Given the description of an element on the screen output the (x, y) to click on. 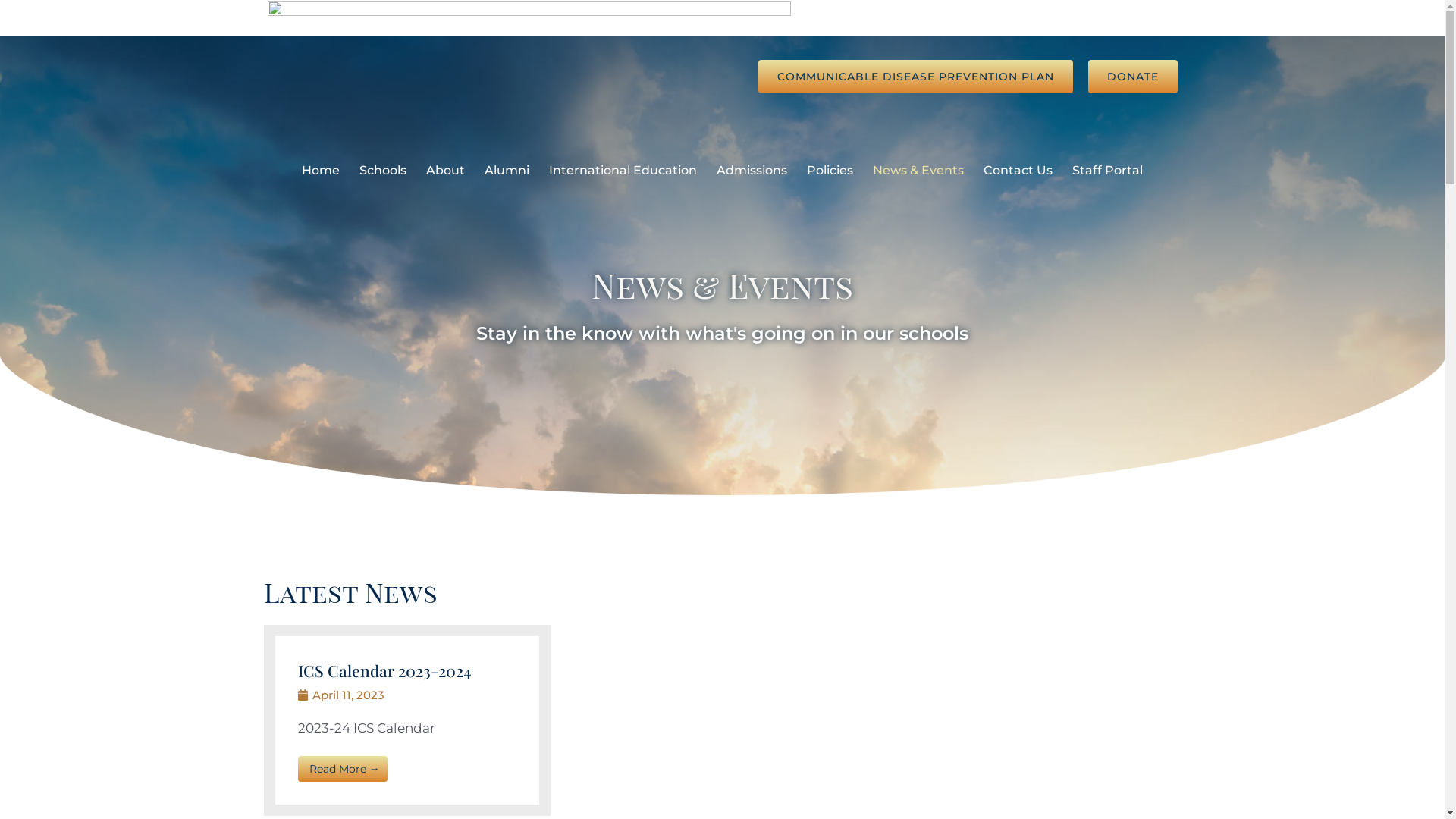
Staff Portal Element type: text (1107, 170)
COMMUNICABLE DISEASE PREVENTION PLAN Element type: text (915, 76)
ICS Calendar 2023-2024 Element type: text (384, 669)
Policies Element type: text (829, 170)
Contact Us Element type: text (1017, 170)
Schools Element type: text (382, 170)
DONATE Element type: text (1131, 76)
Admissions Element type: text (751, 170)
Alumni Element type: text (506, 170)
International Education Element type: text (622, 170)
Home Element type: text (320, 170)
News & Events Element type: text (917, 170)
About Element type: text (445, 170)
